Given the description of an element on the screen output the (x, y) to click on. 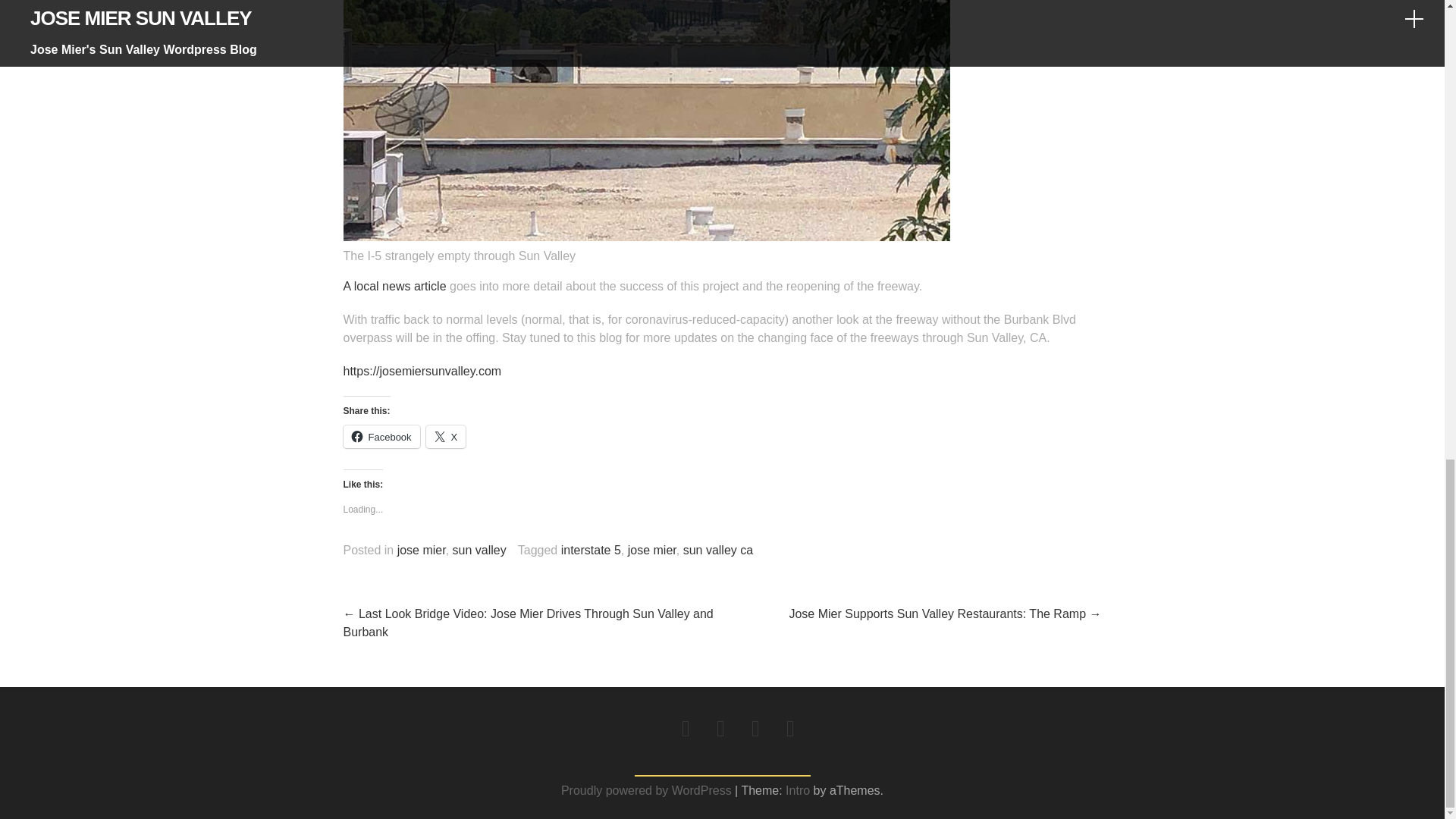
X (445, 436)
Facebook (380, 436)
sun valley (479, 549)
jose mier (652, 549)
interstate 5 (590, 549)
Click to share on Facebook (380, 436)
YouTube (790, 728)
A local news article (393, 286)
Twitter (755, 728)
Click to share on X (445, 436)
